Given the description of an element on the screen output the (x, y) to click on. 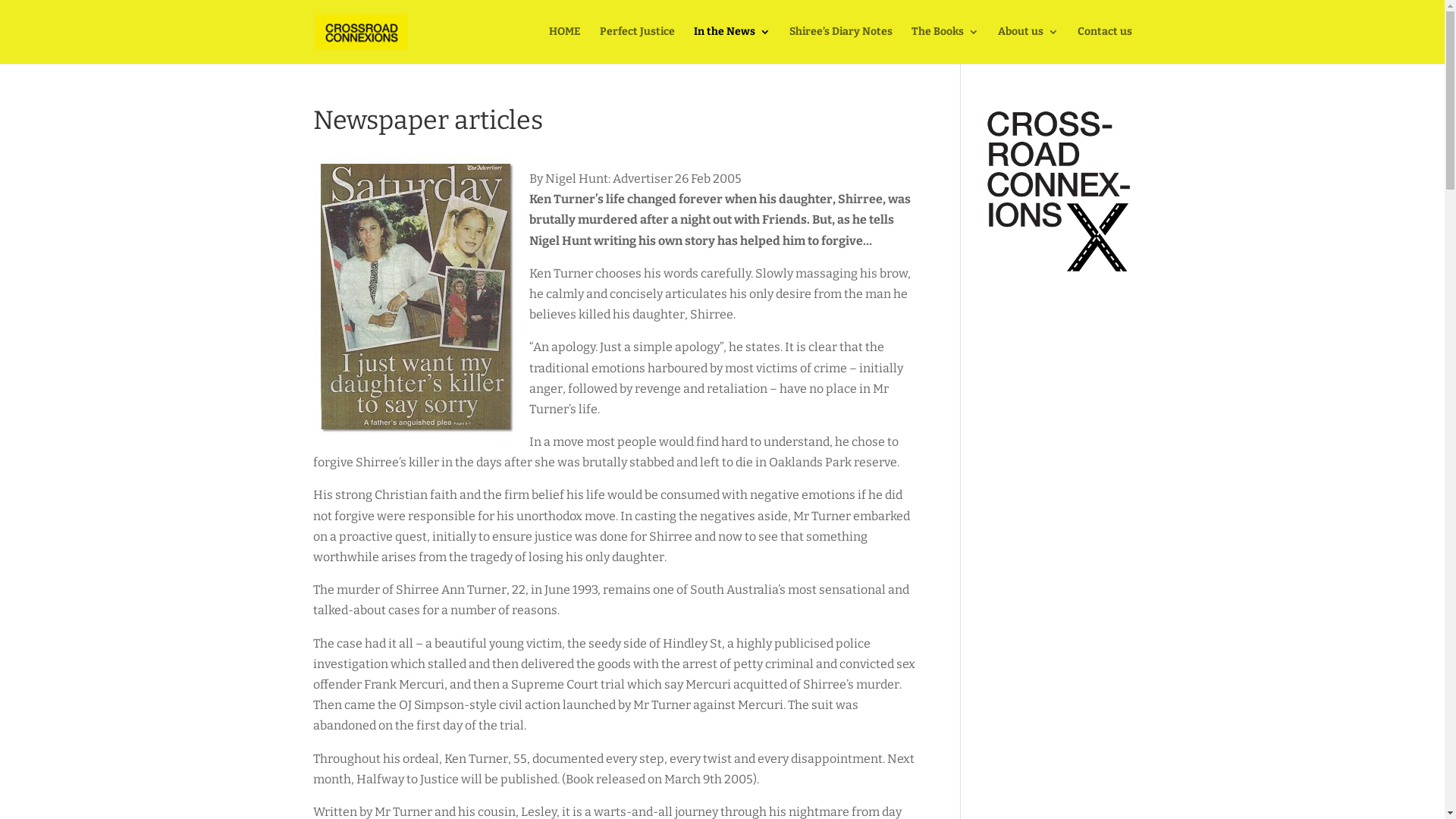
HOME Element type: text (564, 44)
The Books Element type: text (945, 44)
Contact us Element type: text (1103, 44)
In the News Element type: text (731, 44)
About us Element type: text (1027, 44)
Perfect Justice Element type: text (636, 44)
